Given the description of an element on the screen output the (x, y) to click on. 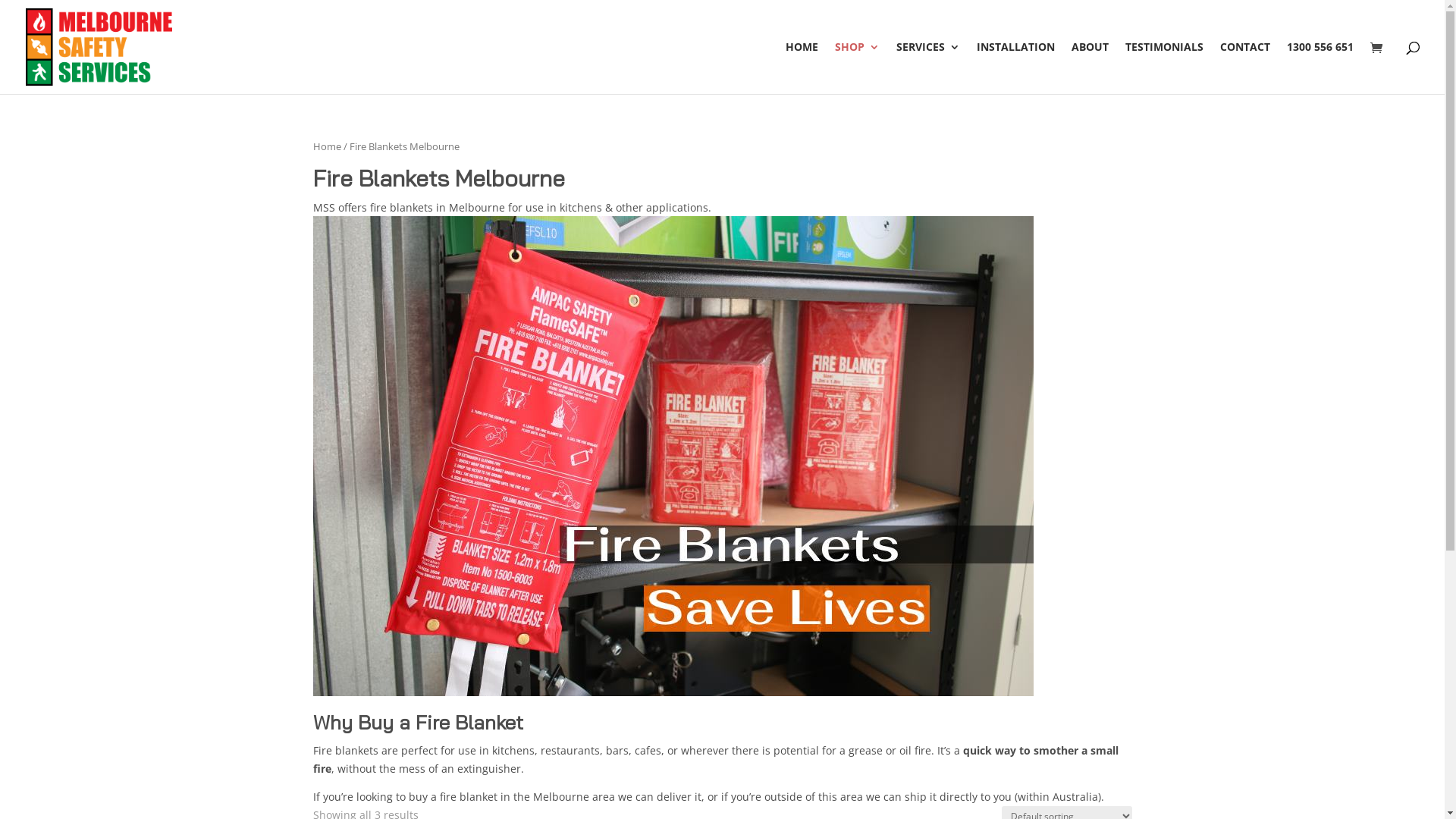
CONTACT Element type: text (1245, 67)
SERVICES Element type: text (928, 67)
HOME Element type: text (801, 67)
1300 556 651 Element type: text (1319, 67)
INSTALLATION Element type: text (1015, 67)
TESTIMONIALS Element type: text (1164, 67)
ABOUT Element type: text (1089, 67)
Home Element type: text (326, 146)
SHOP Element type: text (856, 67)
